Given the description of an element on the screen output the (x, y) to click on. 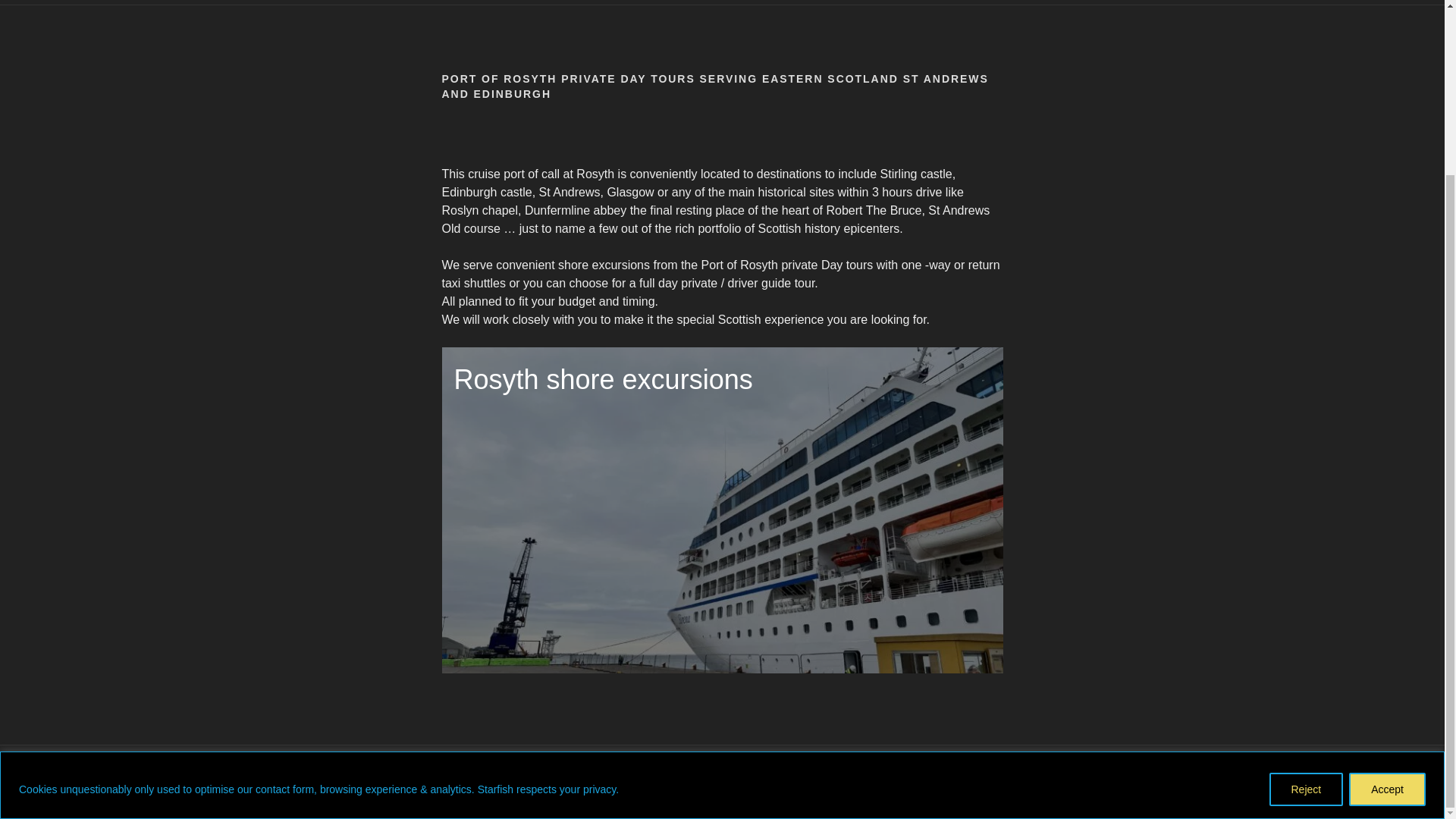
Facebook (389, 781)
Reject (1306, 576)
Proudly powered by WordPress (740, 781)
TripAdvisor (480, 781)
Google (572, 781)
linkedin (435, 781)
Accept (1387, 576)
X (527, 781)
